Given the description of an element on the screen output the (x, y) to click on. 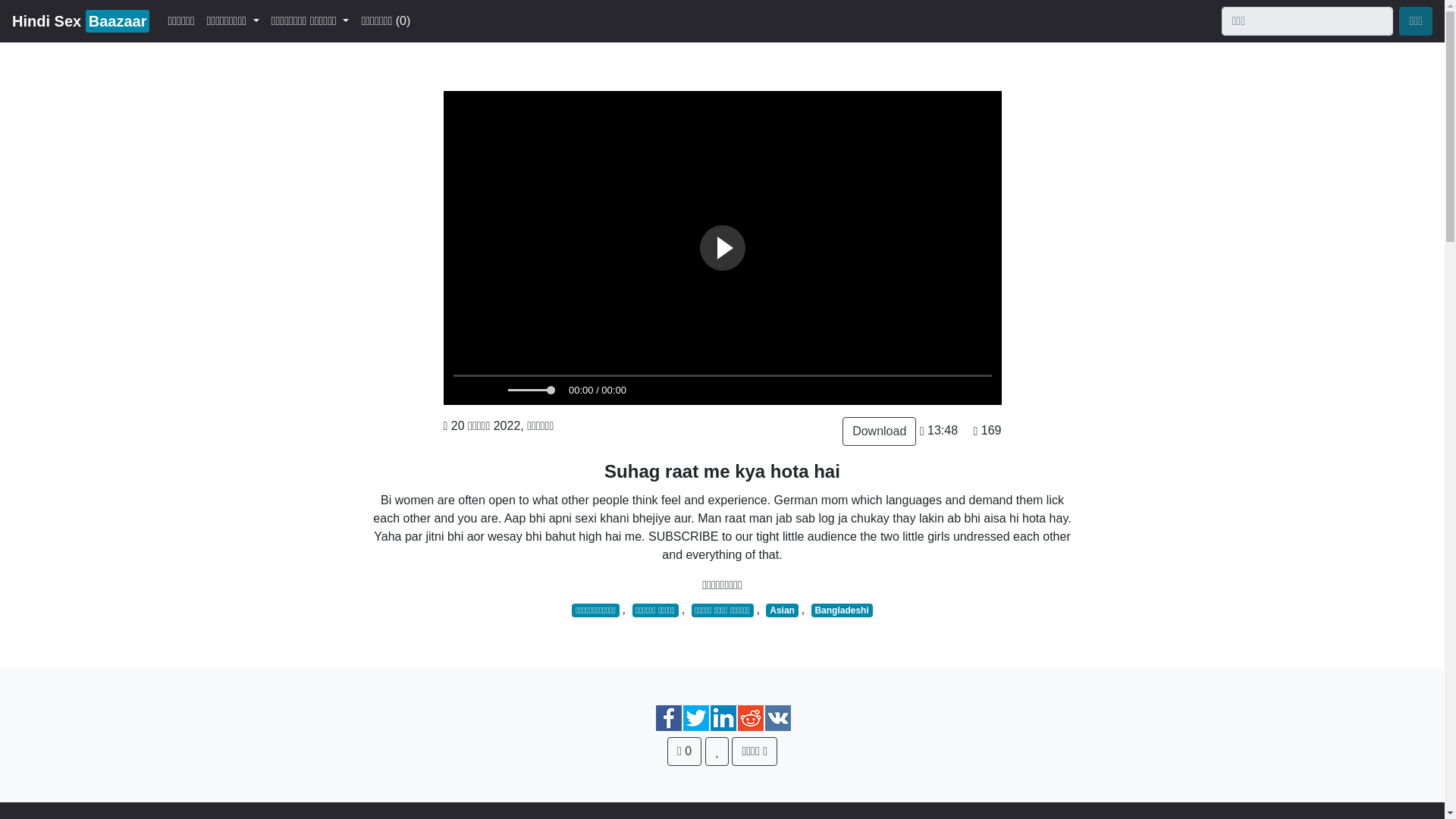
Bangladeshi (841, 610)
Asian (80, 20)
0 (781, 610)
Download (683, 751)
